Given the description of an element on the screen output the (x, y) to click on. 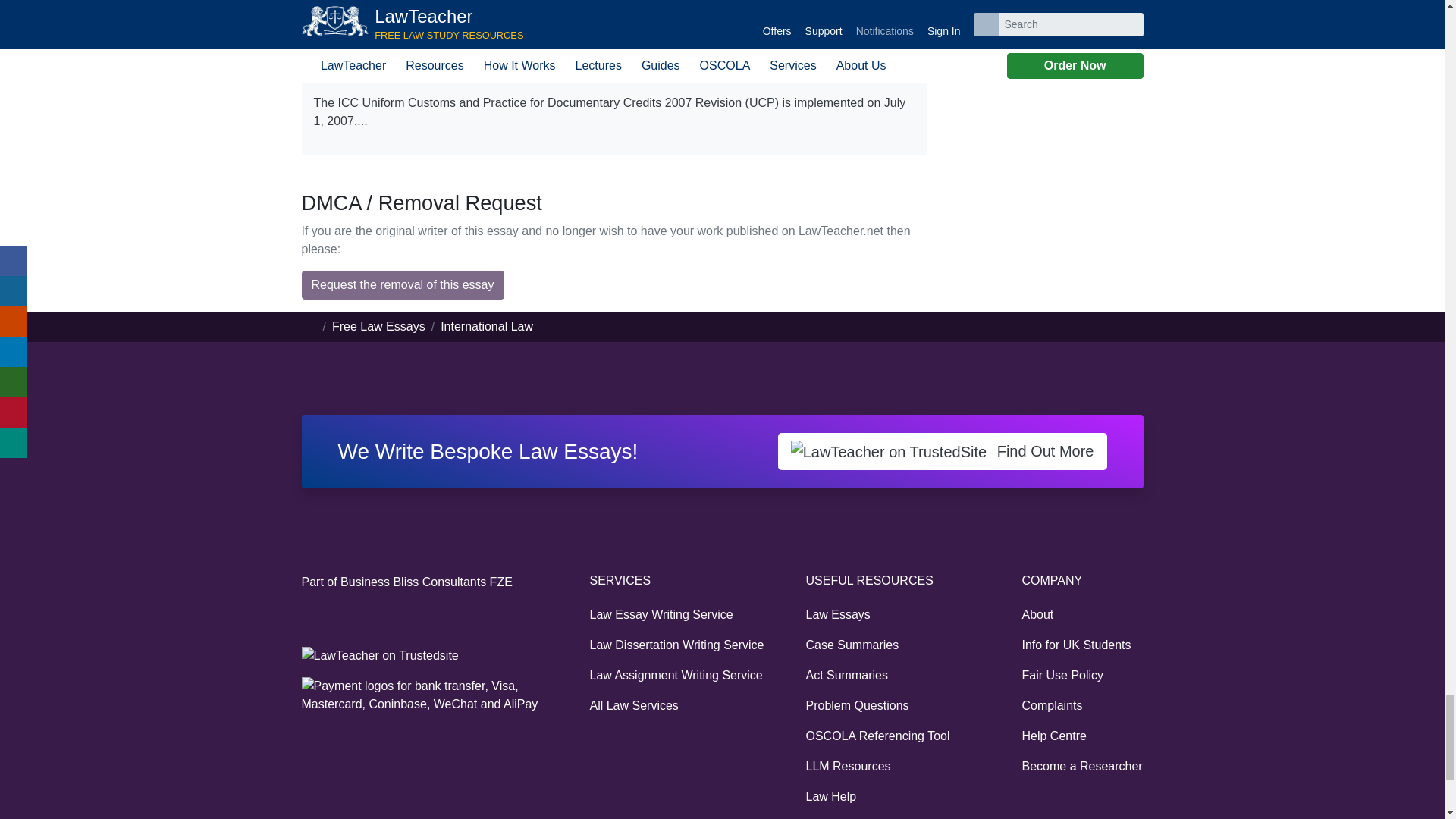
homepage link (309, 326)
